Given the description of an element on the screen output the (x, y) to click on. 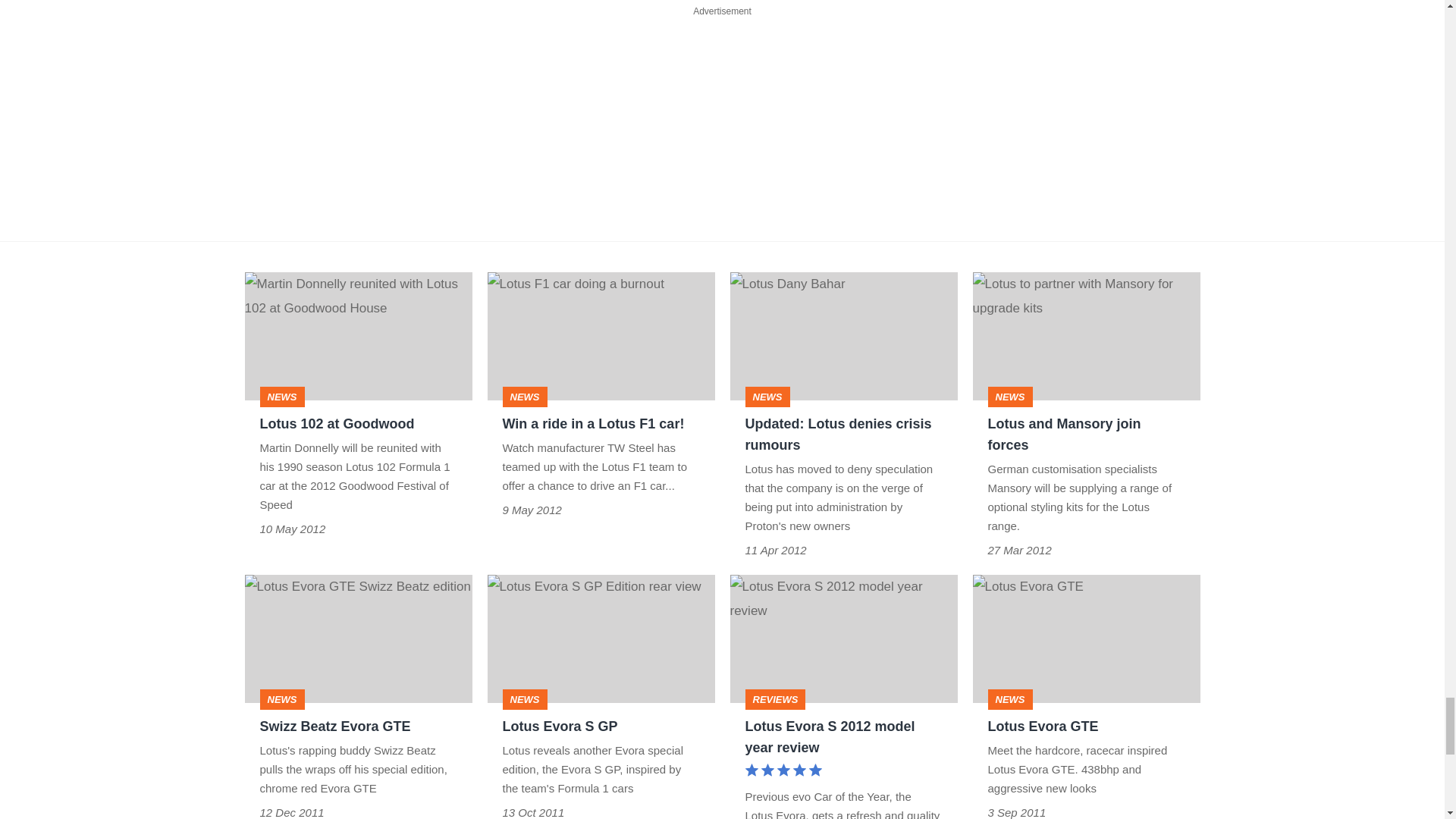
5 Stars (782, 772)
